Given the description of an element on the screen output the (x, y) to click on. 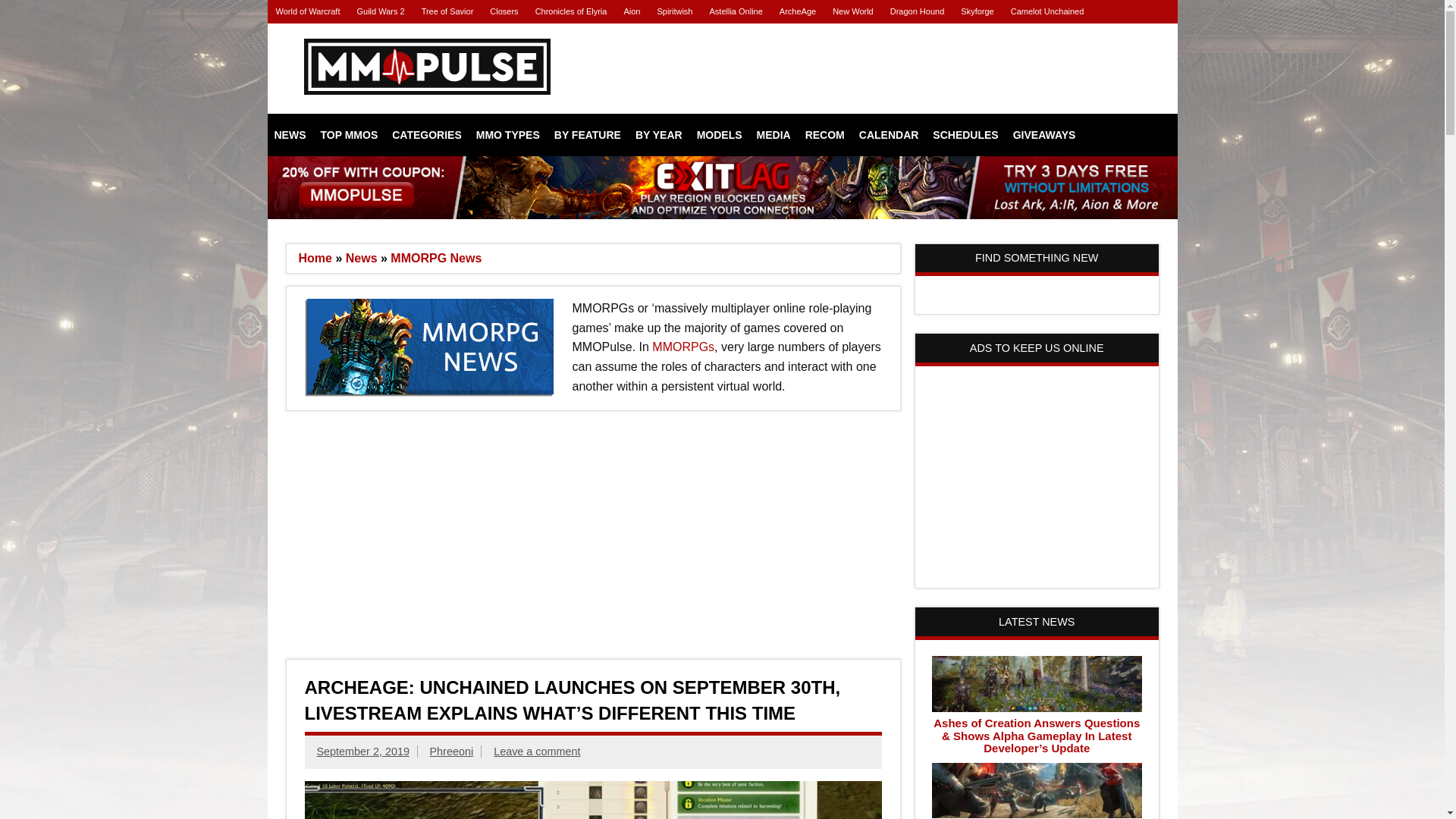
View all posts by Phreeoni (451, 751)
MMORPG News Banner (438, 347)
Astellia Online (735, 11)
Closers (503, 11)
TOP MMOS (349, 134)
ArcheAge (797, 11)
Tree of Savior (447, 11)
Skyforge (976, 11)
Spiritwish (673, 11)
NEWS (289, 134)
